Given the description of an element on the screen output the (x, y) to click on. 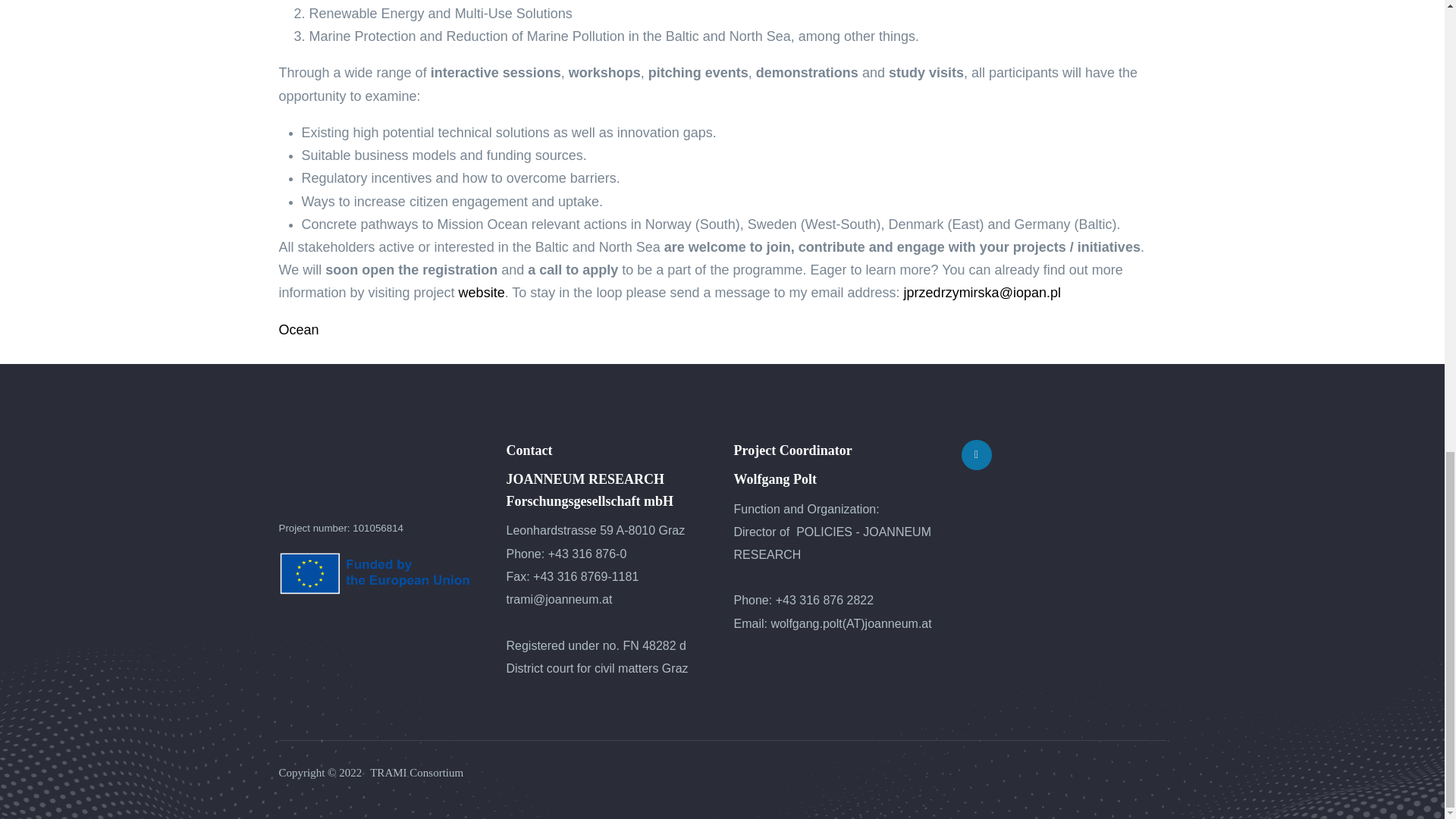
website (481, 292)
Ocean (298, 329)
